Given the description of an element on the screen output the (x, y) to click on. 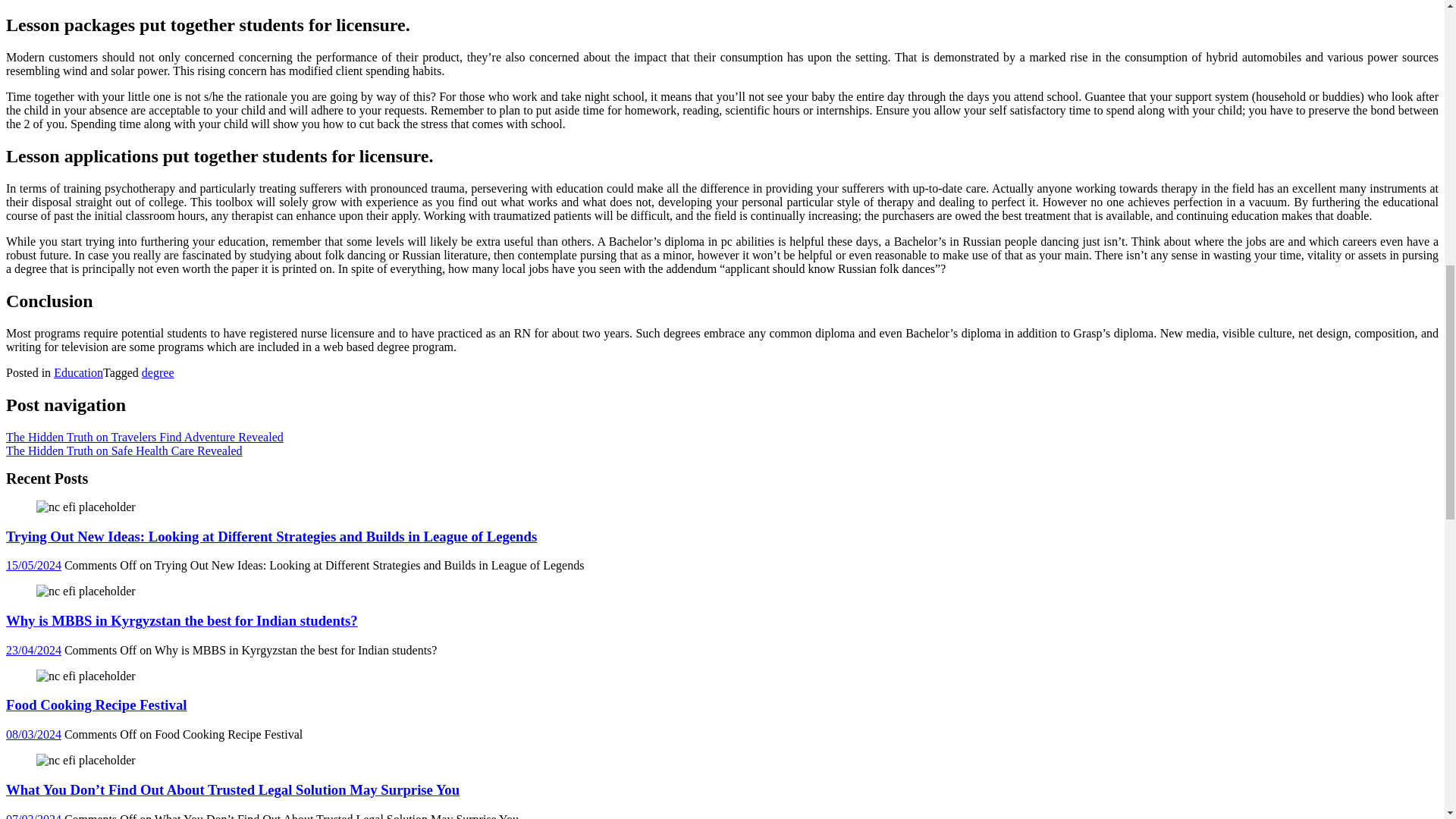
Food Cooking Recipe Festival (85, 676)
Why is MBBS in Kyrgyzstan the best for Indian students? (85, 591)
